Given the description of an element on the screen output the (x, y) to click on. 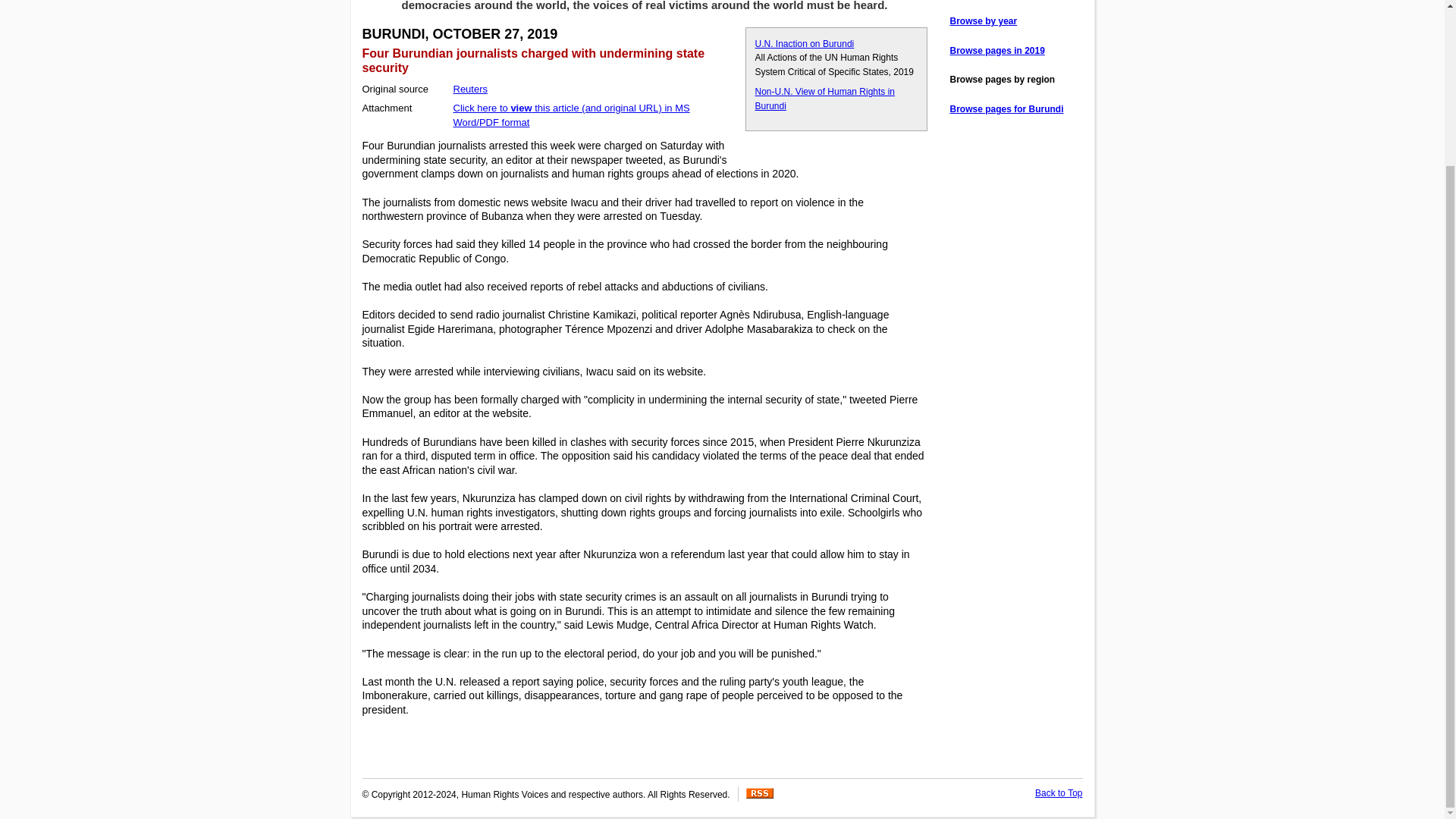
Click here for the Human Rights Voices RSS feed (759, 795)
Browse by year (982, 20)
Reuters (469, 89)
Browse pages by region (1001, 79)
Browse pages in 2019 (996, 50)
Non-U.N. View of Human Rights in Burundi (825, 98)
U.N. Inaction on Burundi (804, 43)
